Given the description of an element on the screen output the (x, y) to click on. 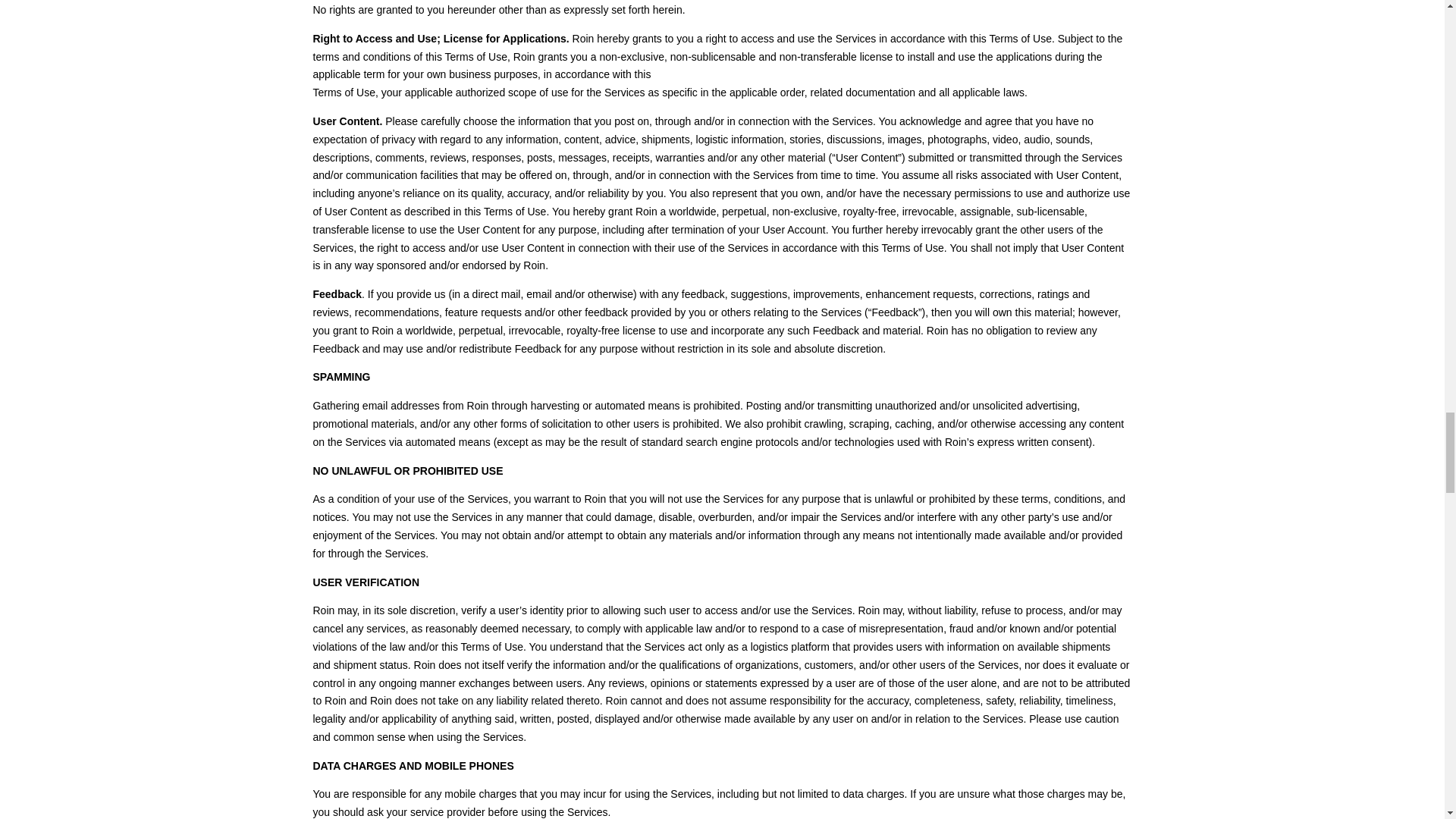
Page 9 (722, 737)
Page 7 (722, 42)
